Given the description of an element on the screen output the (x, y) to click on. 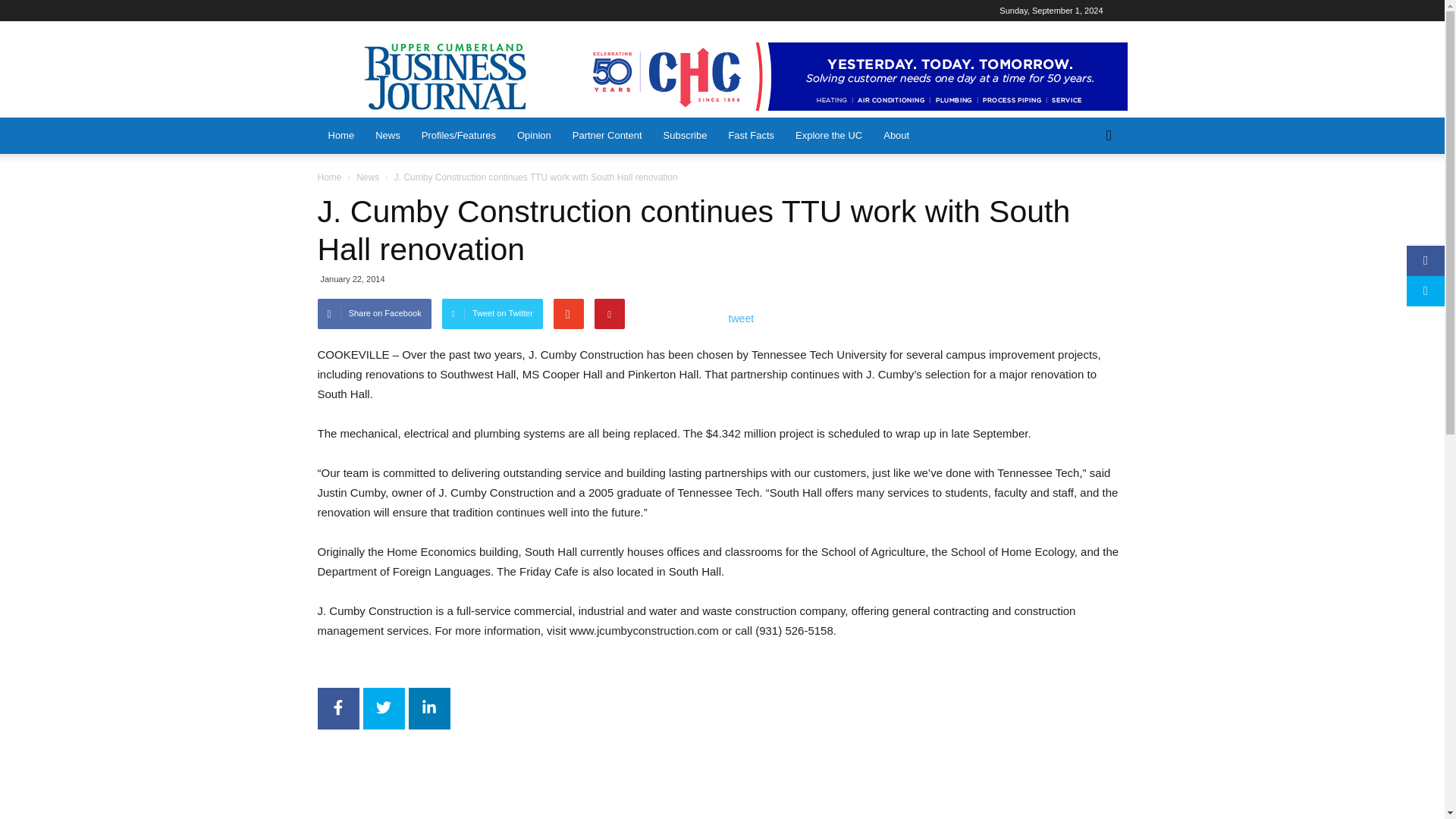
Opinion (534, 135)
News (387, 135)
View all posts in News (367, 176)
Home (341, 135)
Your voice for business in the Upper Cumberland (446, 76)
